Given the description of an element on the screen output the (x, y) to click on. 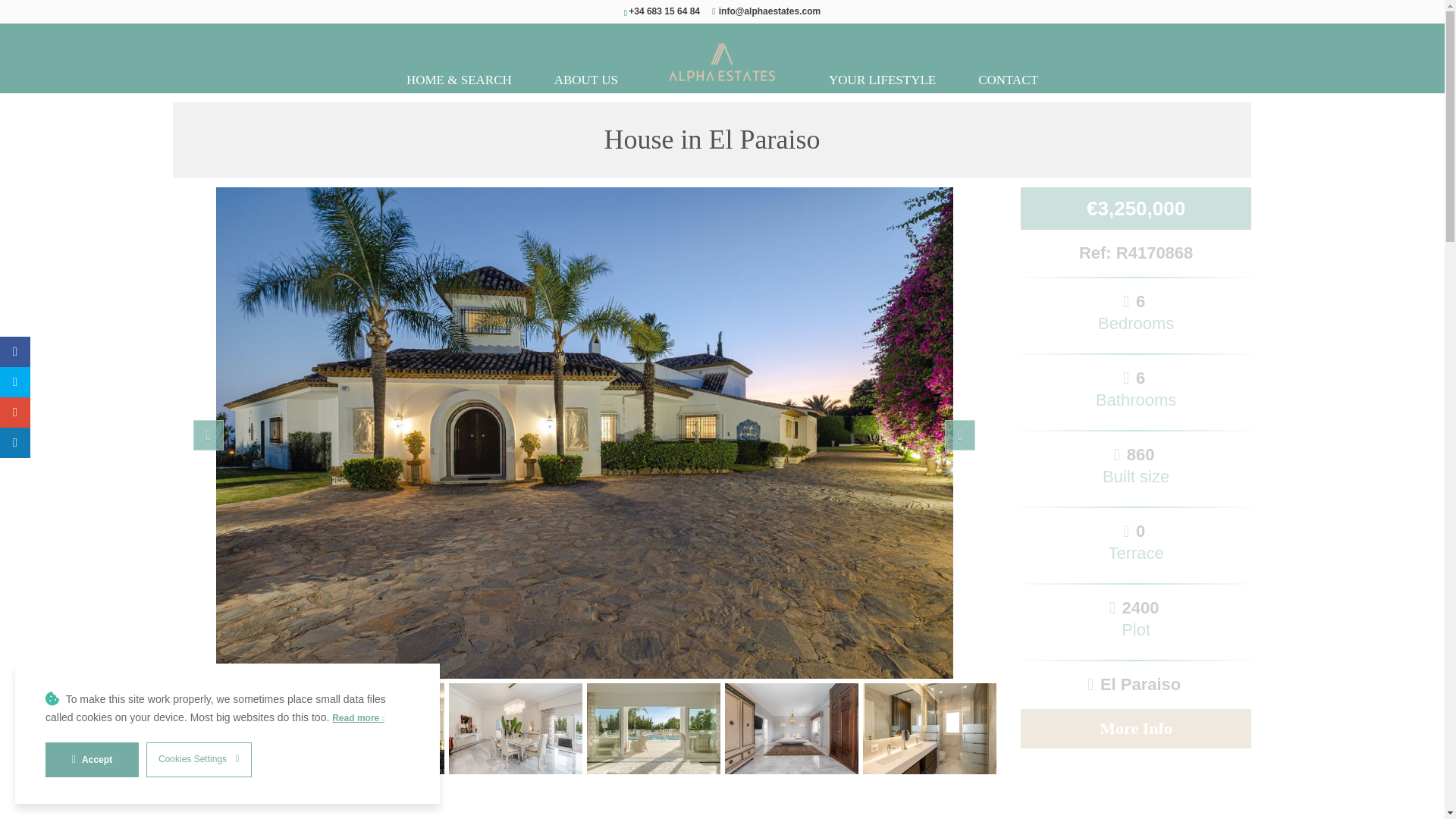
CONTACT (1007, 80)
YOUR LIFESTYLE (881, 80)
ABOUT US (585, 80)
